Given the description of an element on the screen output the (x, y) to click on. 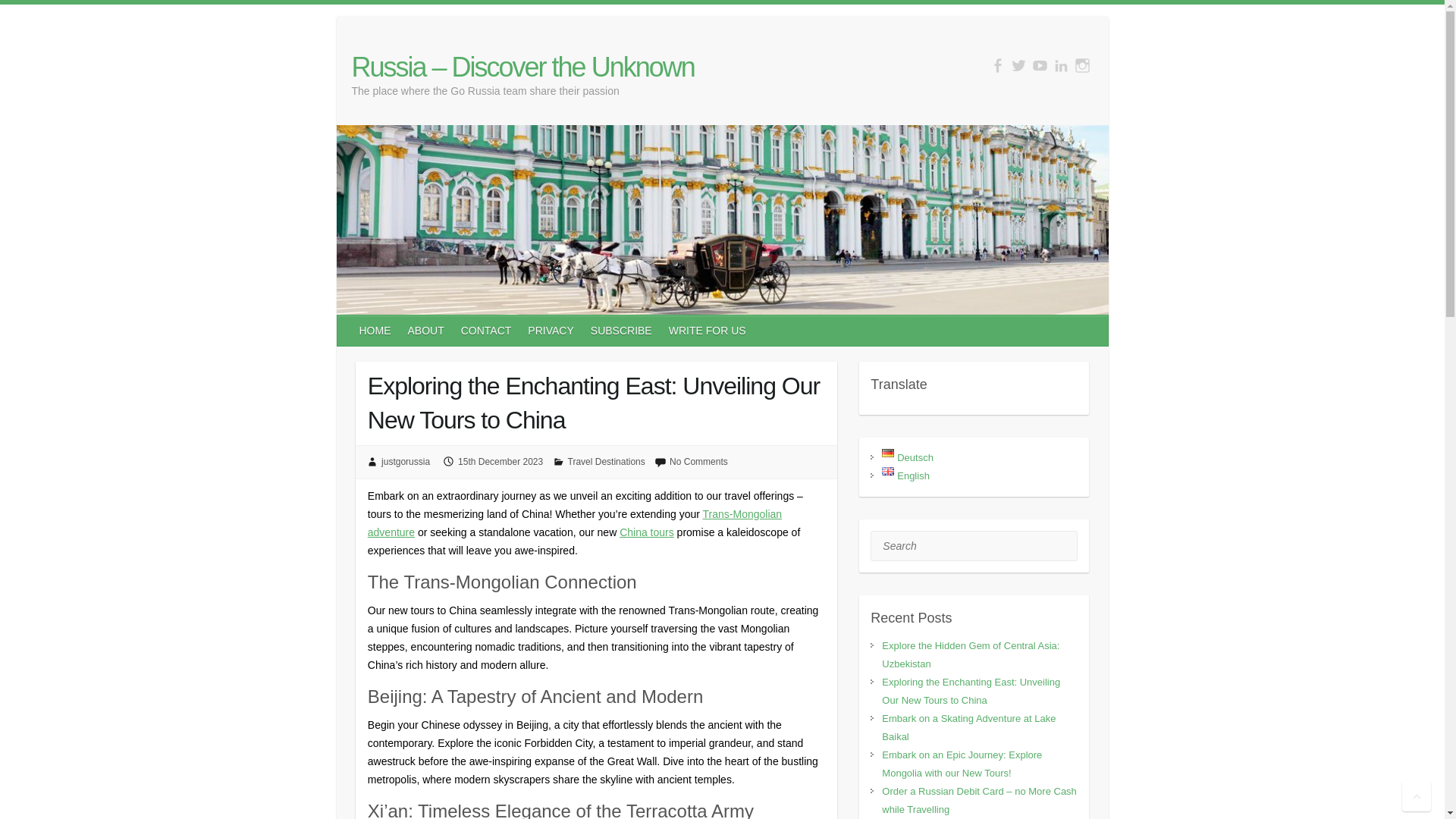
English (906, 475)
Embark on a Skating Adventure at Lake Baikal (968, 727)
No Comments (698, 461)
Deutsch (907, 457)
Trans-Mongolian adventure (574, 522)
15th December 2023 (500, 461)
HOME (376, 330)
Travel Destinations (606, 461)
justgorussia (405, 461)
WRITE FOR US (708, 330)
CONTACT (486, 330)
ABOUT (426, 330)
SUBSCRIBE (622, 330)
